Given the description of an element on the screen output the (x, y) to click on. 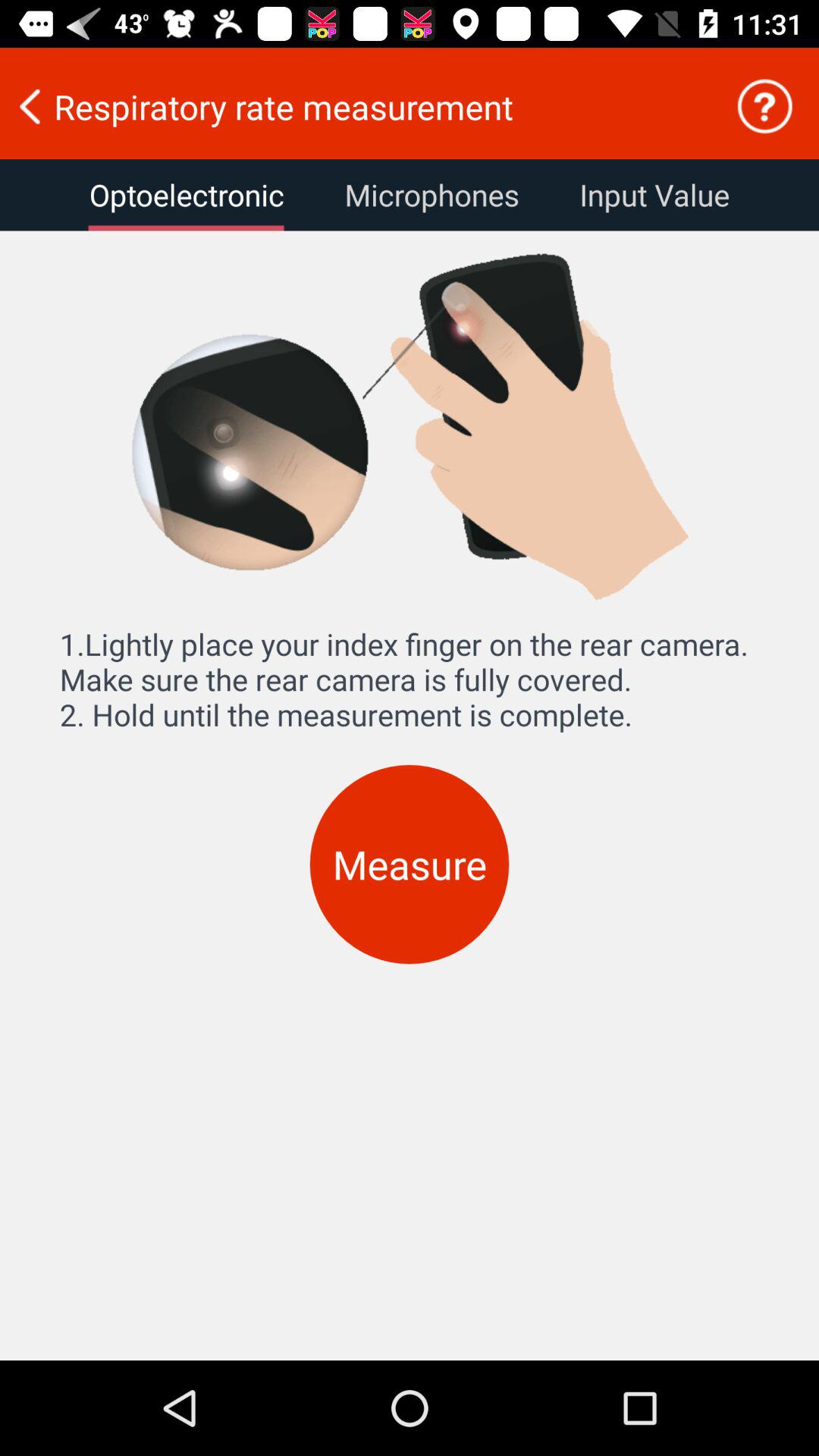
open item to the left of input value (431, 194)
